Given the description of an element on the screen output the (x, y) to click on. 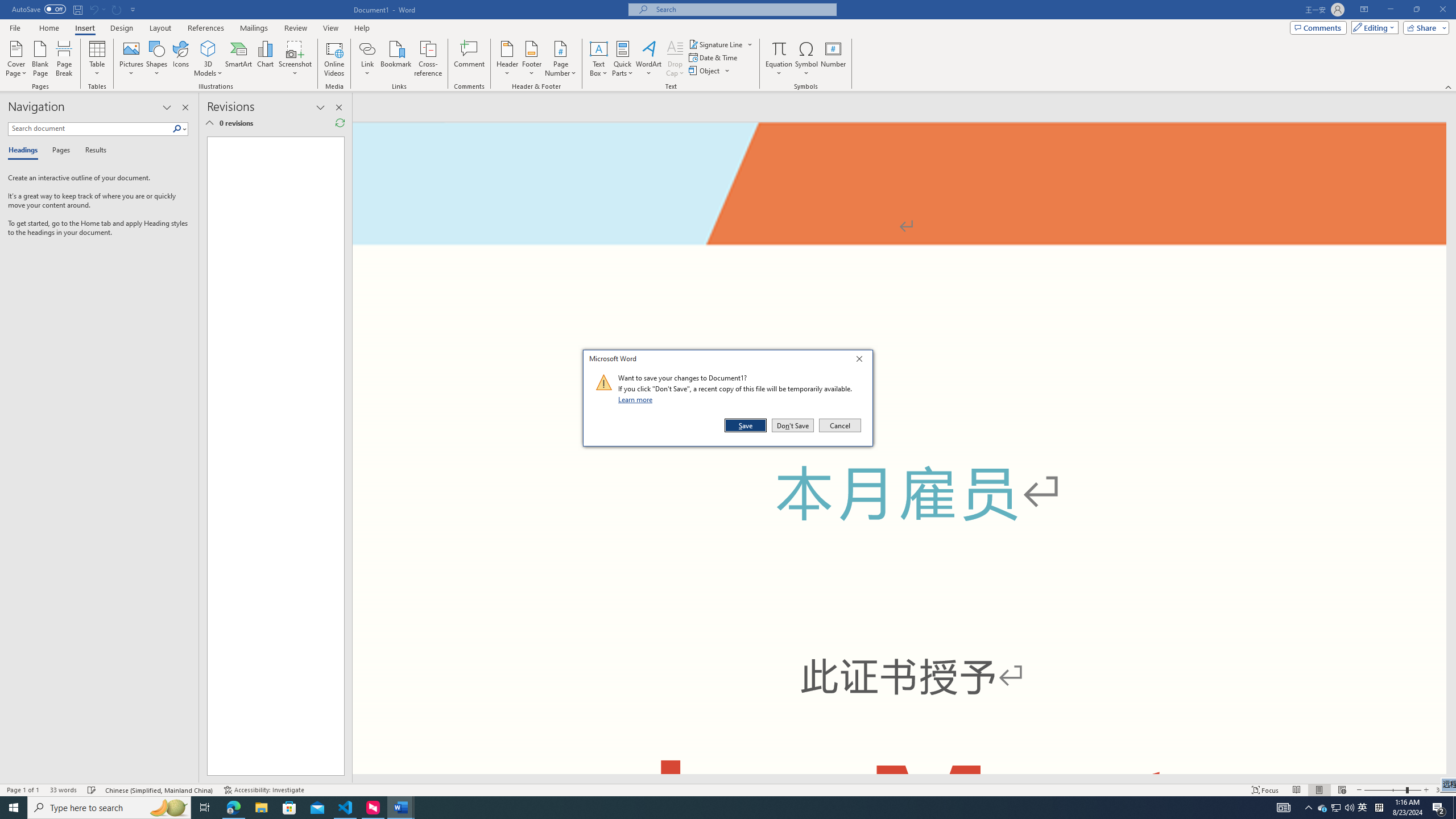
Cover Page (16, 58)
Link (367, 58)
Visual Studio Code - 1 running window (345, 807)
Headings (25, 150)
Quick Parts (622, 58)
Header (507, 58)
Results (91, 150)
Signature Line (721, 44)
Type here to search (108, 807)
Table (97, 58)
Can't Repeat (117, 9)
